Given the description of an element on the screen output the (x, y) to click on. 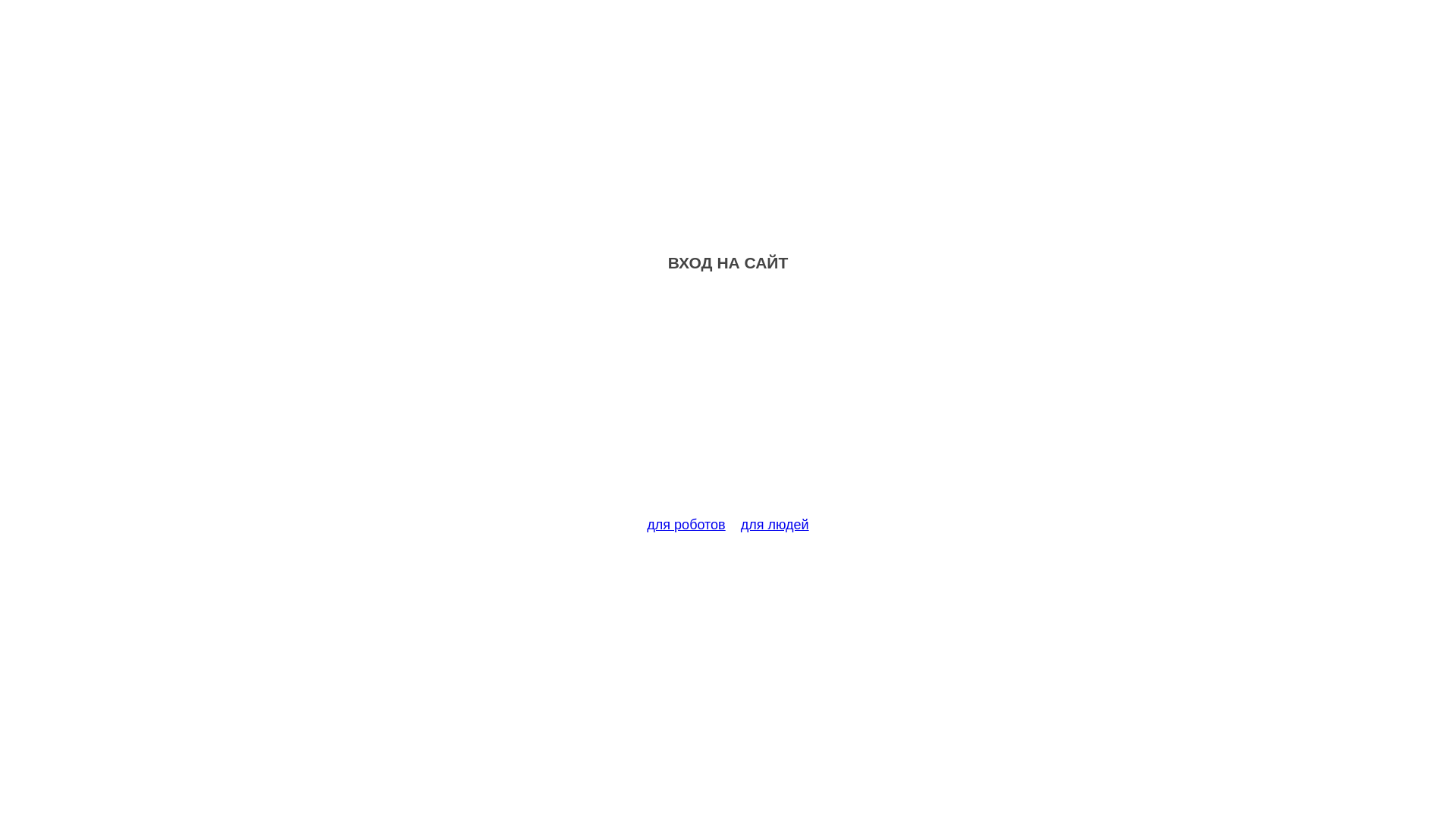
Advertisement Element type: hover (727, 403)
